Given the description of an element on the screen output the (x, y) to click on. 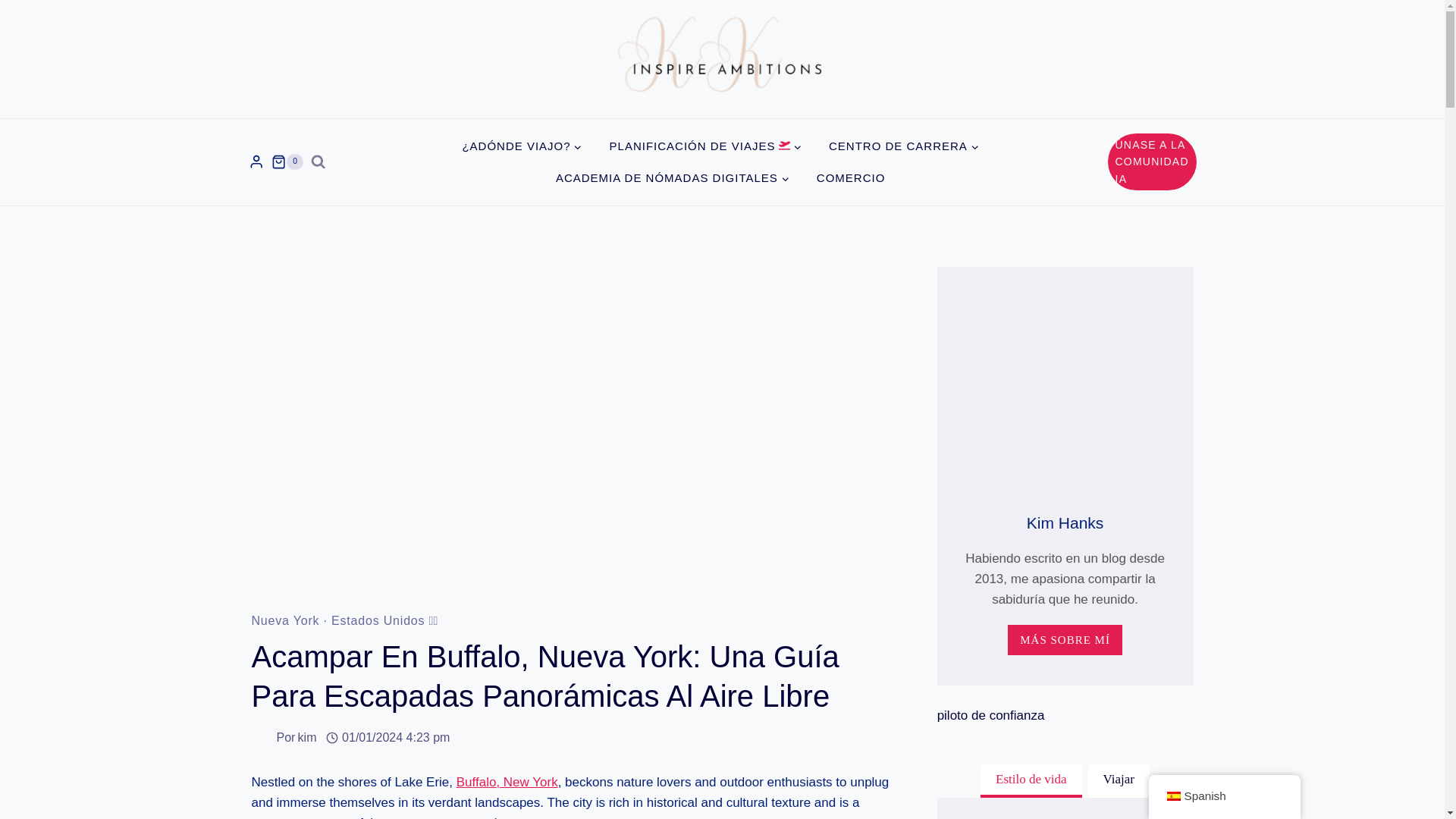
Spanish (1172, 795)
0 (286, 161)
